Given the description of an element on the screen output the (x, y) to click on. 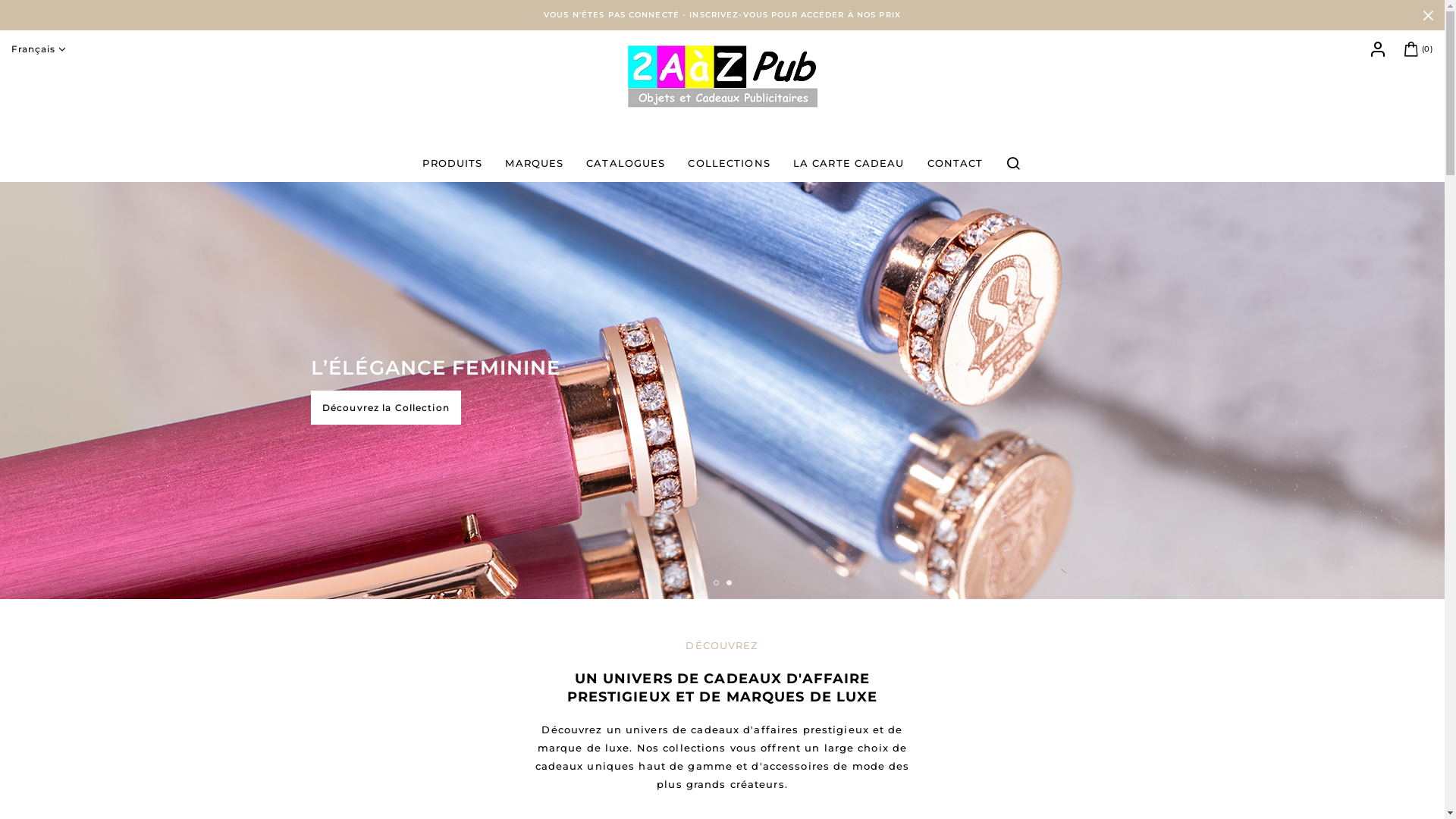
PRODUITS Element type: text (452, 163)
LA CARTE CADEAU Element type: text (848, 163)
COLLECTIONS Element type: text (728, 163)
MARQUES Element type: text (533, 163)
CONTACT Element type: text (955, 163)
(0) Element type: text (1416, 49)
CATALOGUES Element type: text (625, 163)
